Given the description of an element on the screen output the (x, y) to click on. 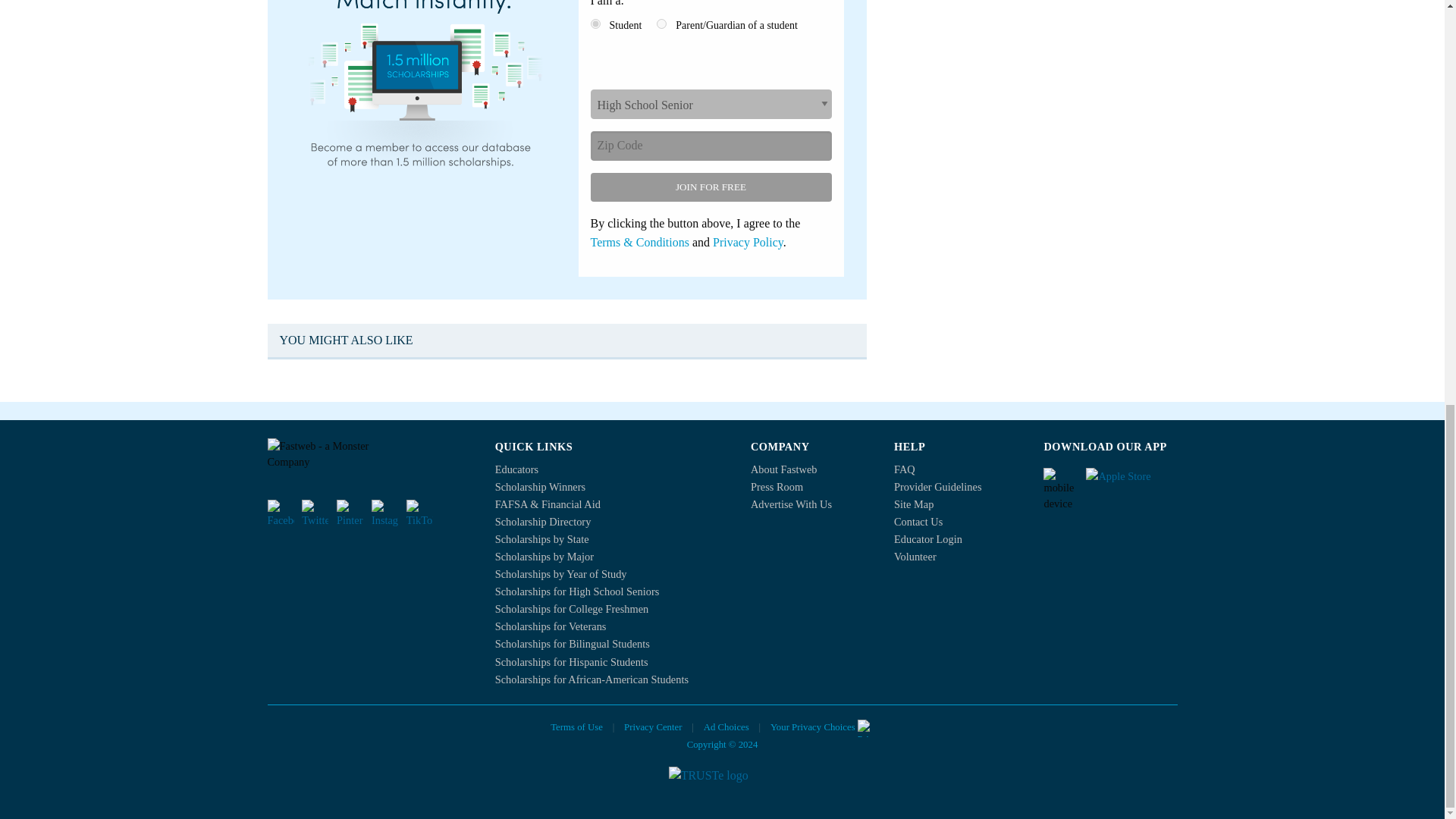
Fastweb on Instagram (384, 512)
Fastweb on TikTok (419, 512)
Join for free (710, 186)
2 (661, 23)
Fastweb on Pinterest (349, 512)
Fastweb on Facebook (280, 512)
Fastweb on IOS (1131, 481)
1 (594, 23)
